Given the description of an element on the screen output the (x, y) to click on. 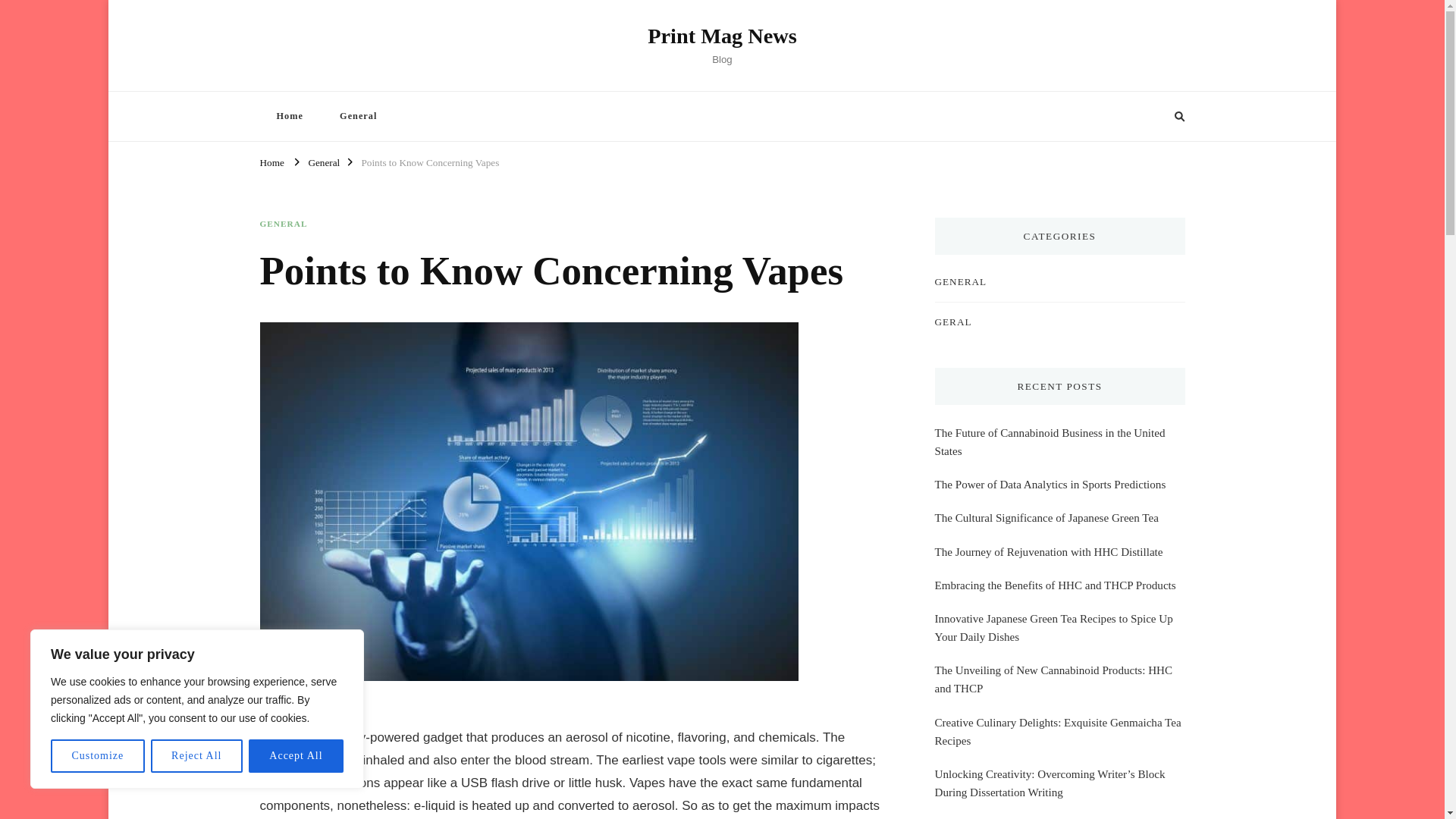
Customize (97, 756)
Print Mag News (721, 35)
Home (288, 115)
Accept All (295, 756)
Reject All (197, 756)
Points to Know Concerning Vapes (430, 161)
GENERAL (283, 223)
General (358, 115)
General (323, 161)
Home (271, 161)
